Given the description of an element on the screen output the (x, y) to click on. 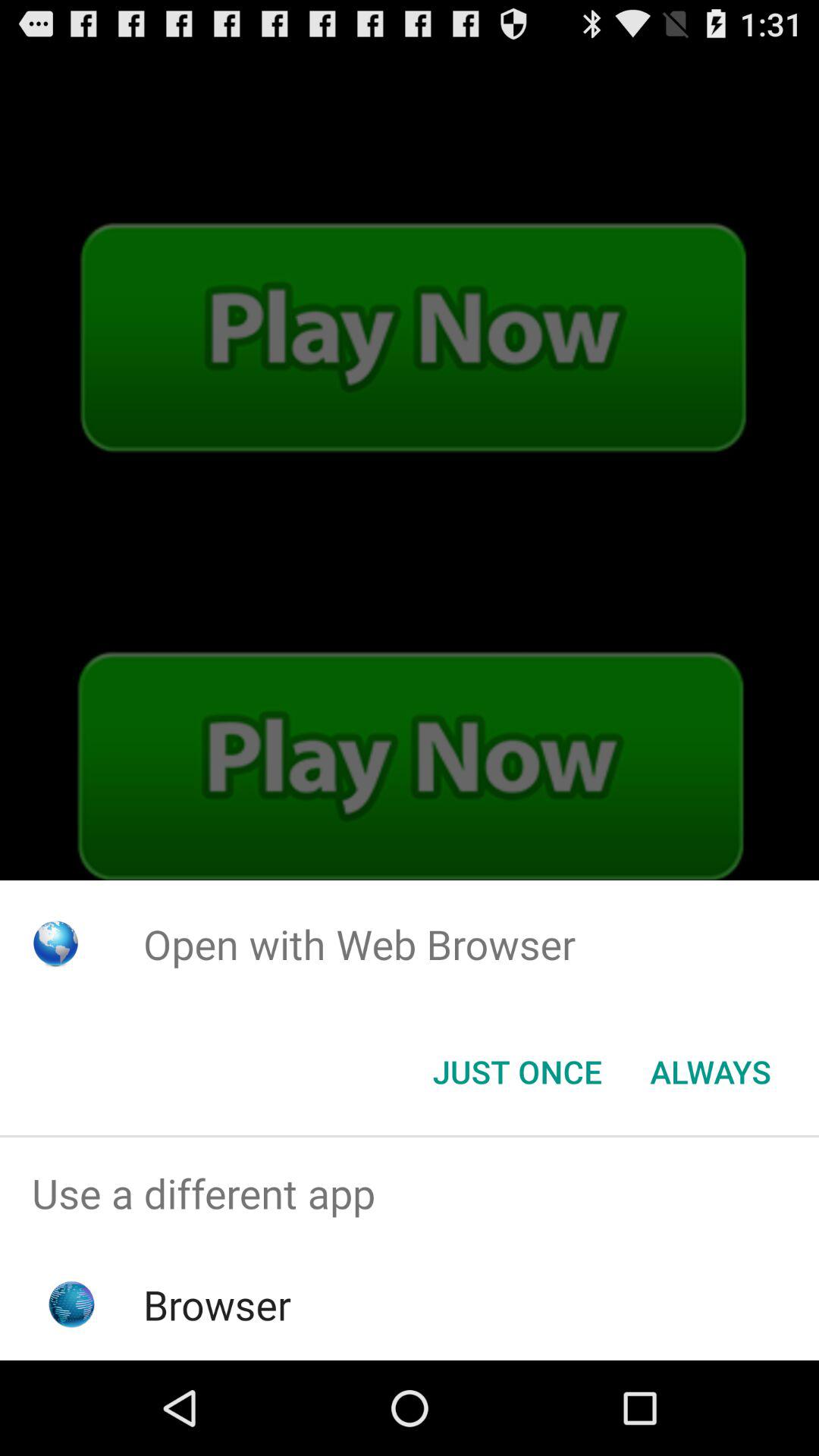
choose the icon next to the just once button (710, 1071)
